Given the description of an element on the screen output the (x, y) to click on. 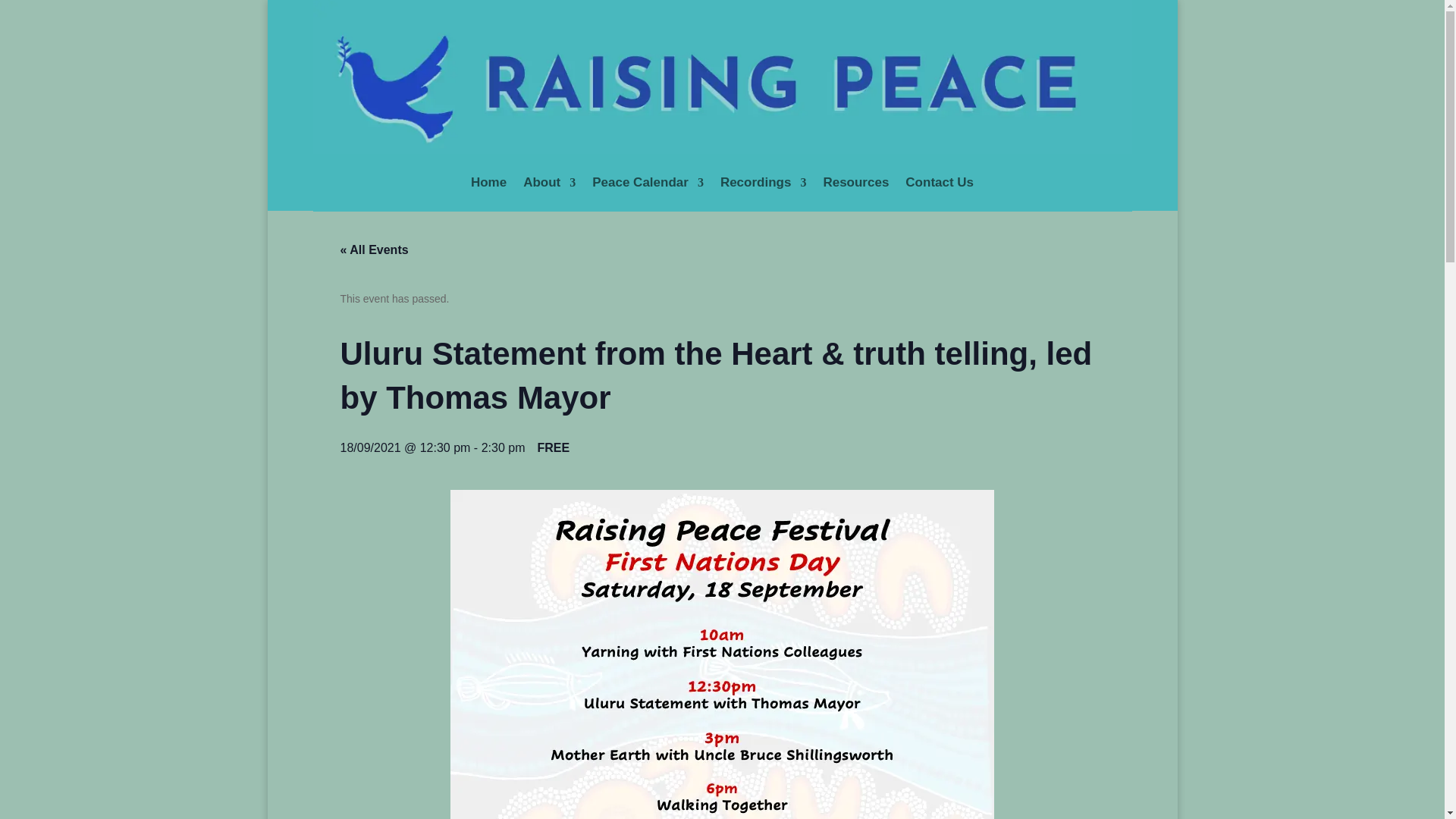
Recordings (763, 182)
About (548, 182)
Peace Calendar (647, 182)
Contact Us (939, 182)
Resources (855, 182)
